Given the description of an element on the screen output the (x, y) to click on. 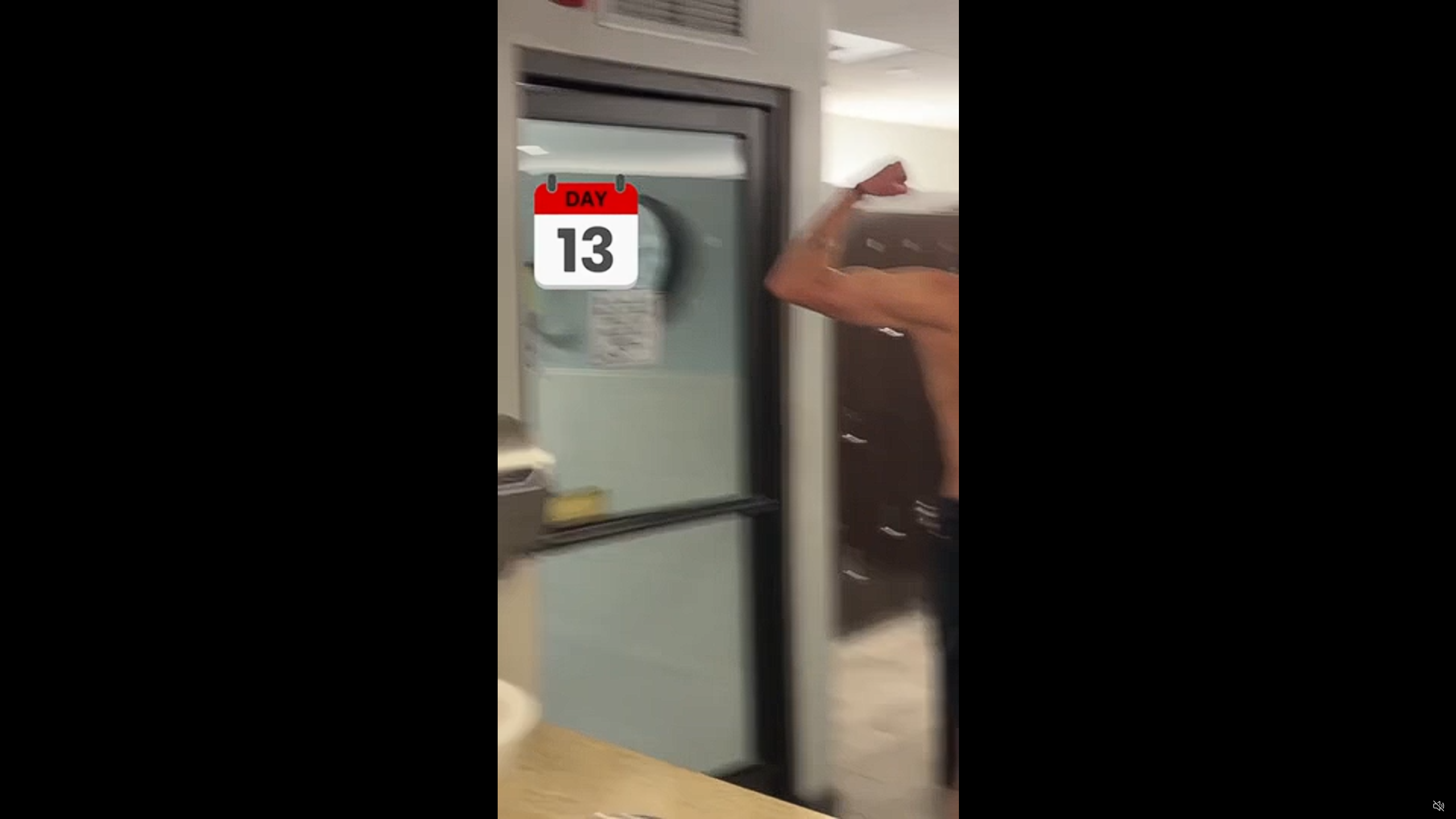
Pause (17, 806)
Unmute (1438, 805)
Seek Back (39, 806)
Quality Settings (1371, 806)
Seek Forward (62, 806)
Captions (1394, 806)
Progress Bar (727, 791)
Non-Fullscreen (1417, 806)
